Given the description of an element on the screen output the (x, y) to click on. 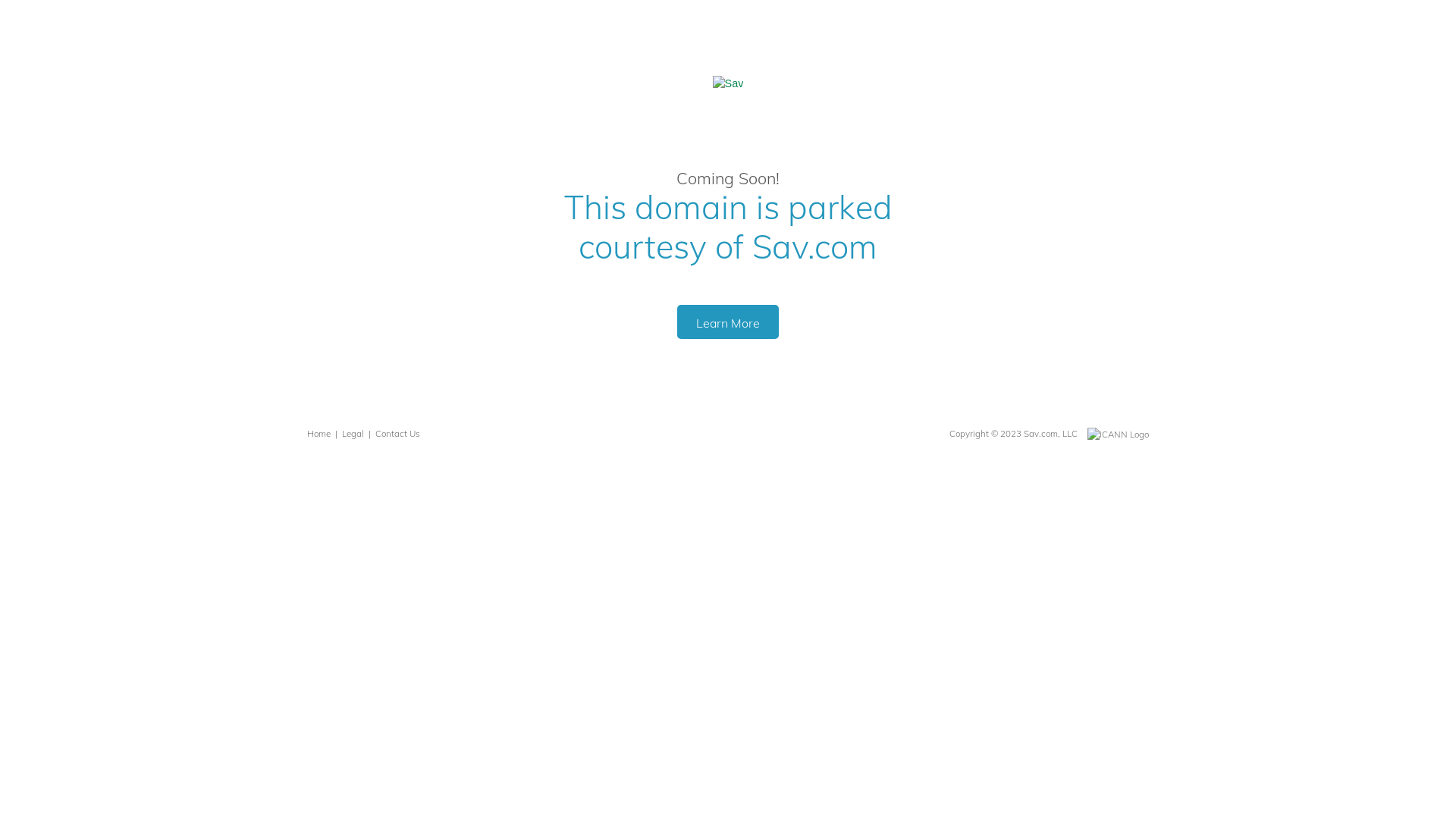
Home Element type: text (318, 433)
Legal Element type: text (353, 433)
Contact Us Element type: text (397, 433)
Learn More Element type: text (727, 321)
